Given the description of an element on the screen output the (x, y) to click on. 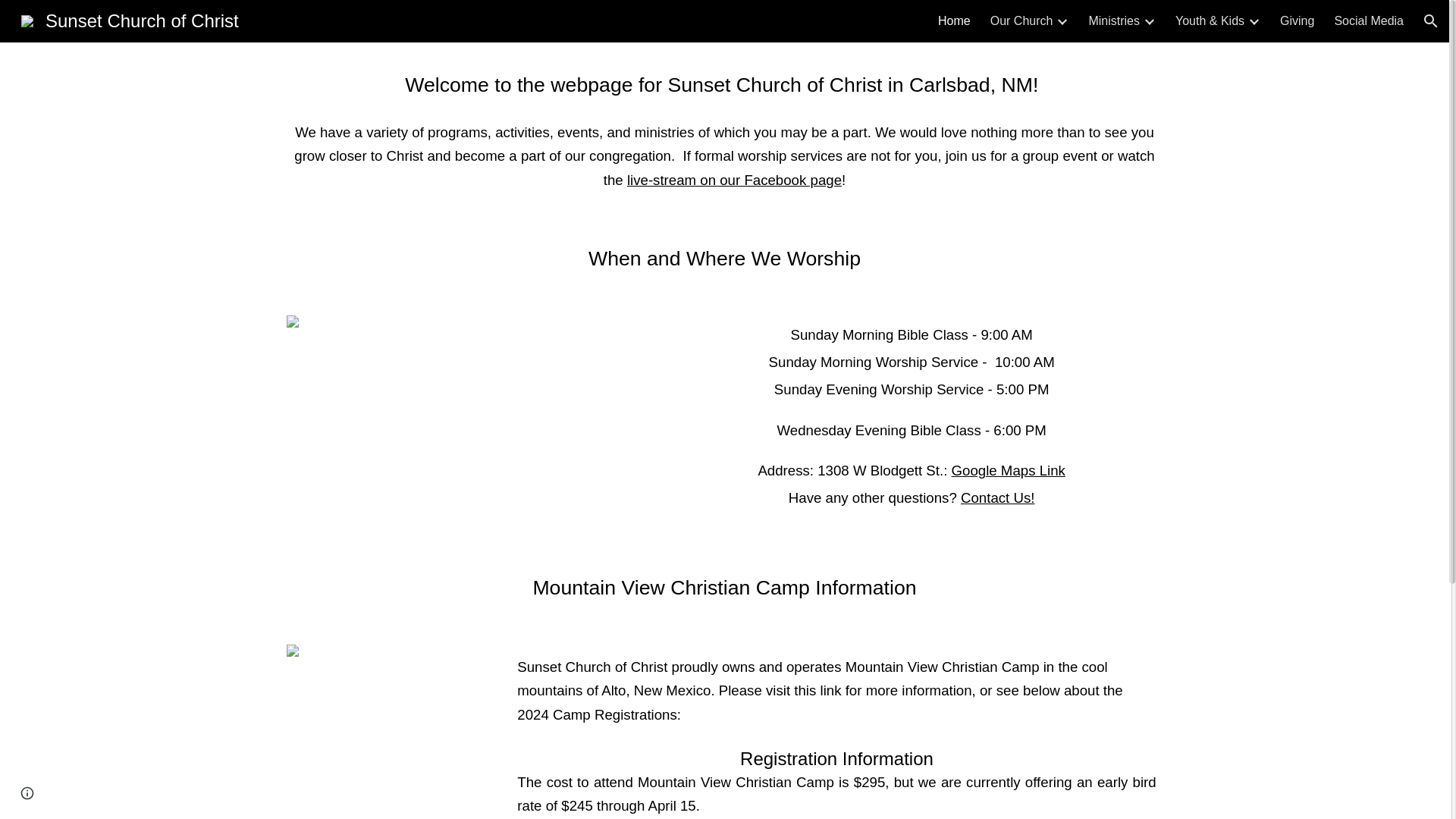
Giving (1296, 20)
Ministries (1113, 20)
Our Church (1021, 20)
Sunset Church of Christ (129, 19)
Social Media (1368, 20)
Home (954, 20)
